Given the description of an element on the screen output the (x, y) to click on. 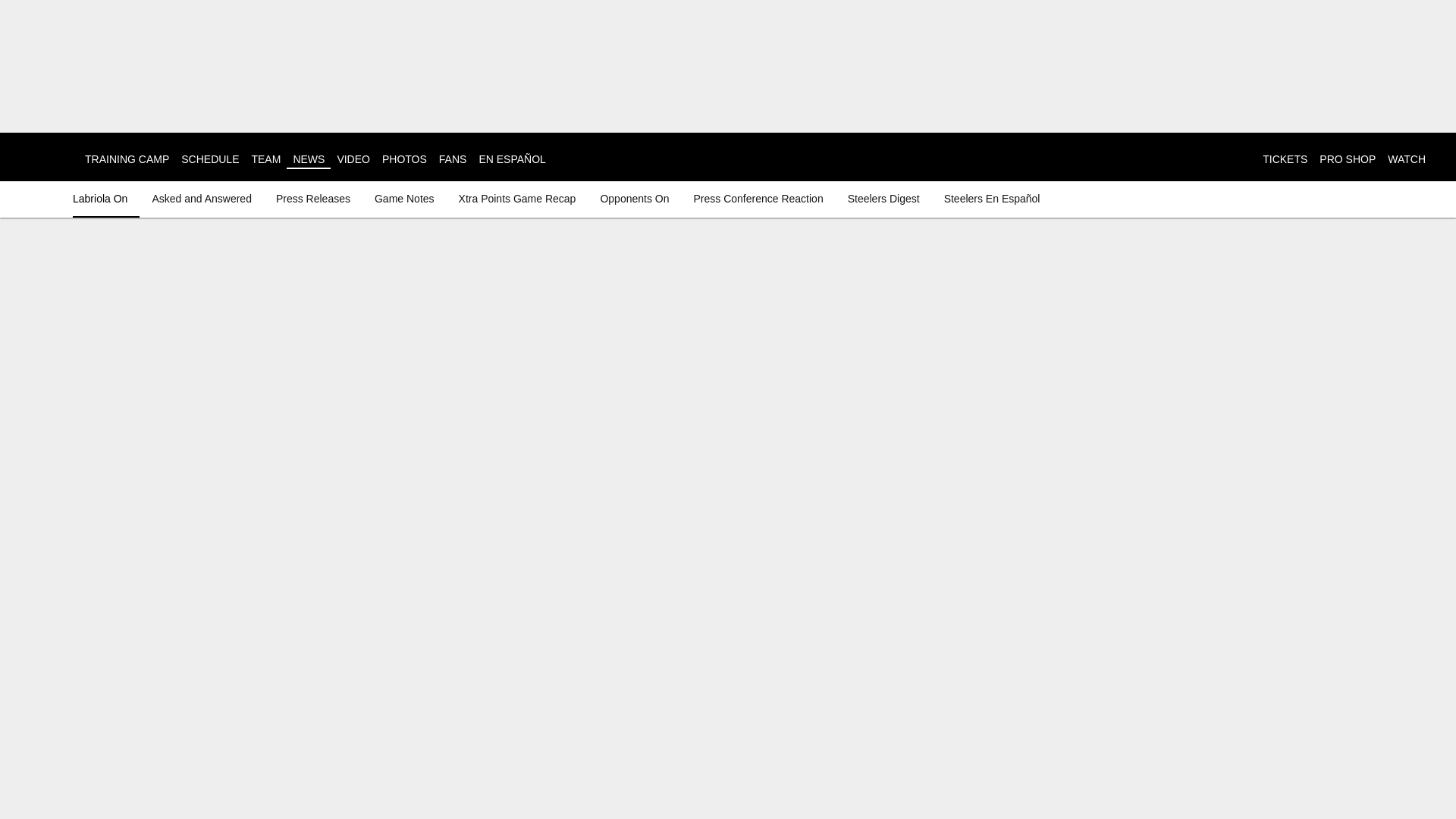
Opponents On (634, 198)
VIDEO (352, 159)
VIDEO (352, 159)
Xtra Points Game Recap (517, 198)
Press Releases (312, 198)
FANS (453, 159)
TEAM (265, 159)
TRAINING CAMP (126, 159)
TEAM (265, 159)
TRAINING CAMP (126, 159)
